Given the description of an element on the screen output the (x, y) to click on. 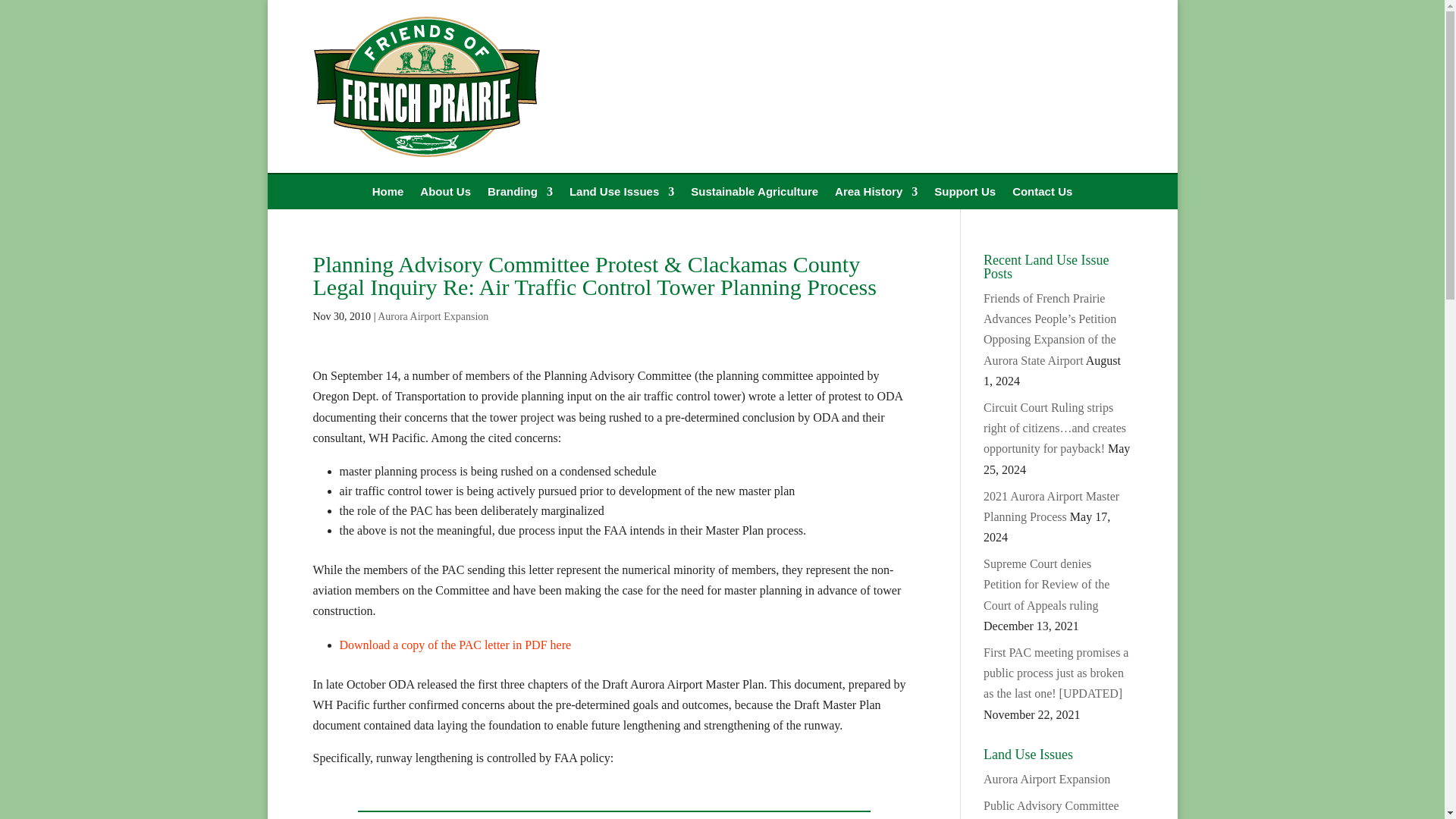
2021 Aurora Airport Master Planning Process (1051, 506)
Support Us (964, 194)
fofp-logo-mobile (426, 86)
Aurora Airport Expansion (1046, 779)
Aurora Airport Expansion (432, 316)
About Us (445, 194)
Area History (875, 194)
Contact Us (1041, 194)
Home (388, 194)
